Given the description of an element on the screen output the (x, y) to click on. 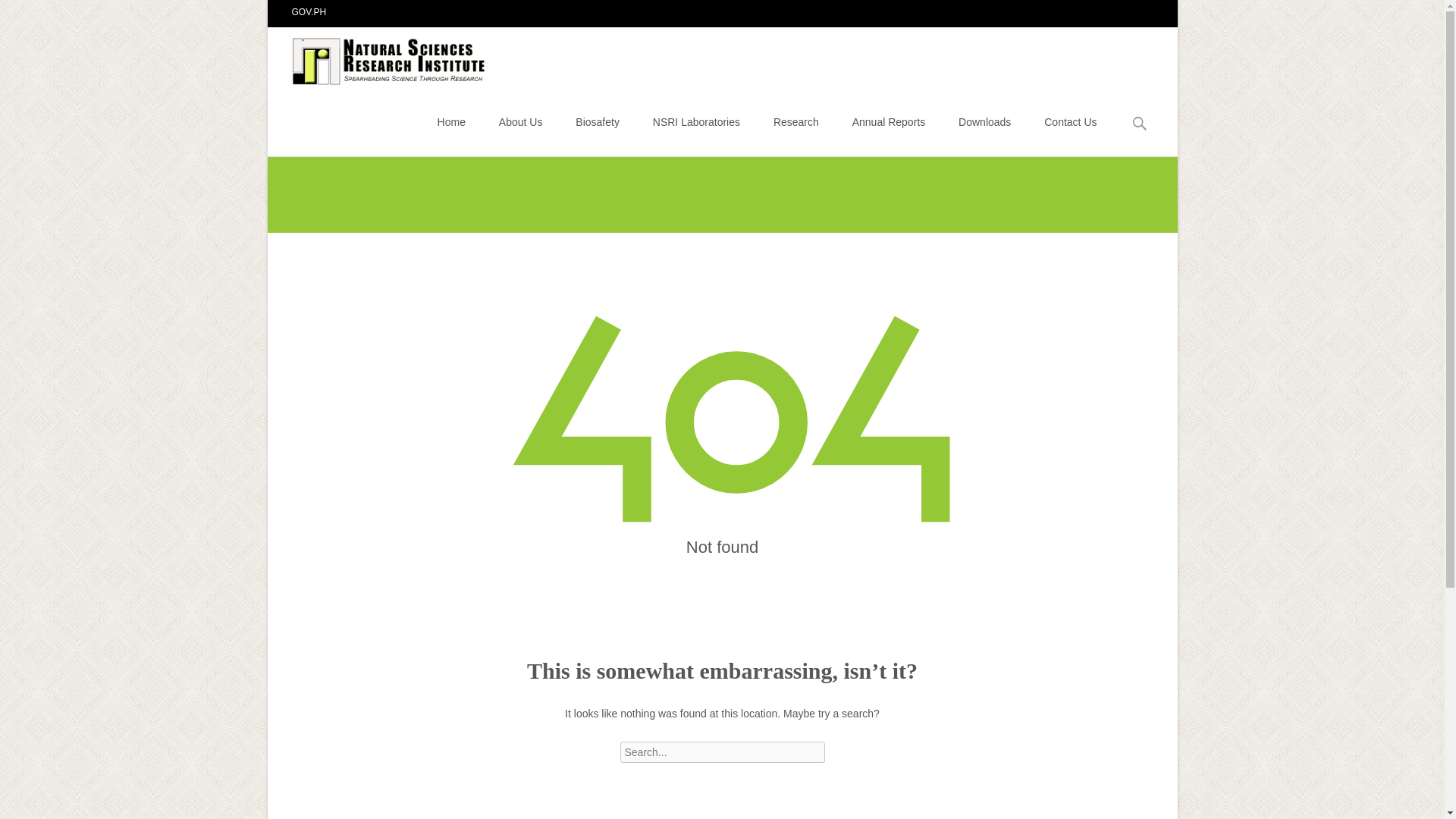
Search for: (722, 752)
Search (18, 14)
Annual Reports (888, 121)
Search (34, 14)
Search for: (1139, 123)
GOV.PH (308, 11)
NSRI Laboratories (695, 121)
Natural Sciences Research Institute (378, 57)
